Given the description of an element on the screen output the (x, y) to click on. 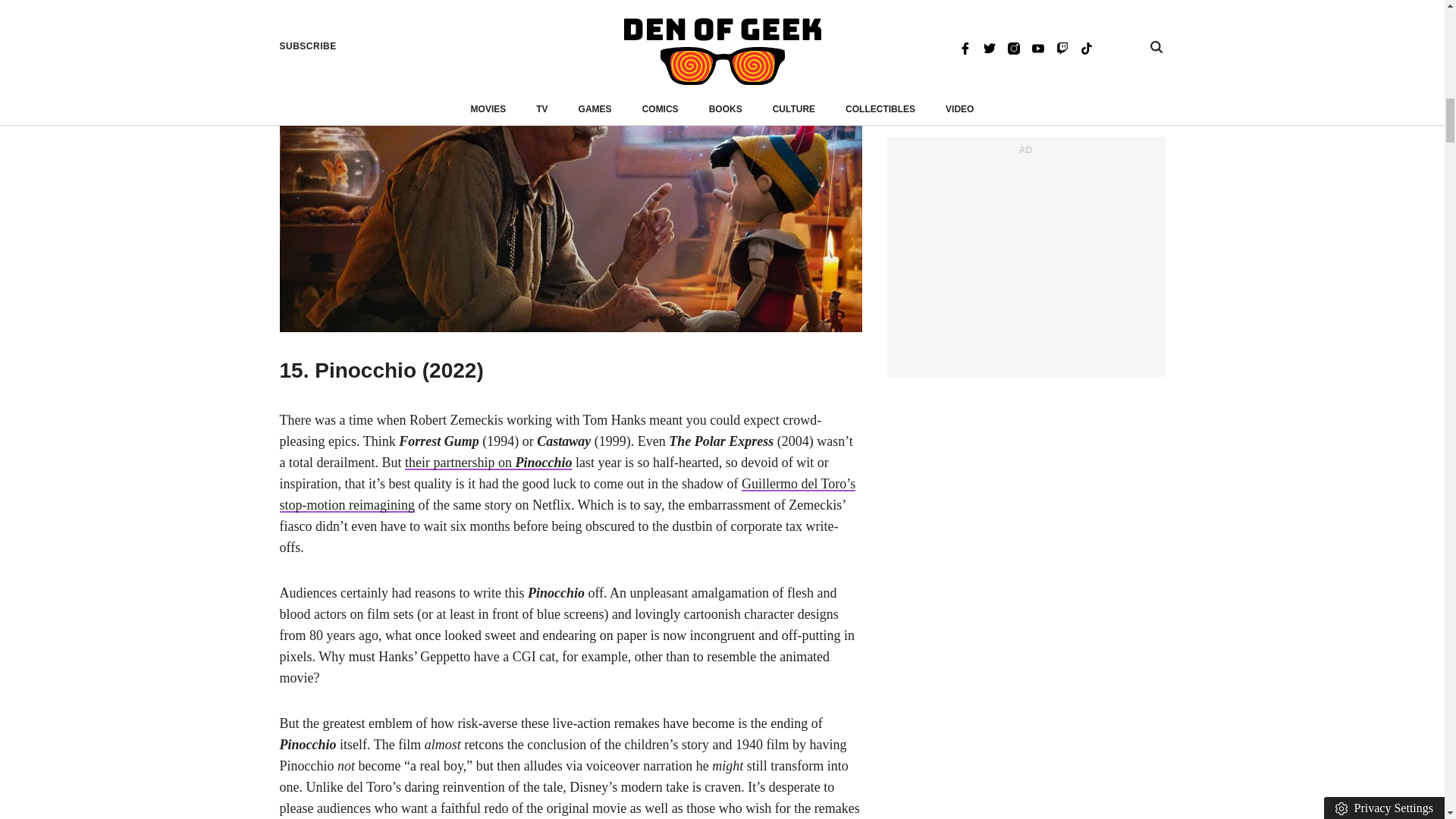
their partnership on Pinocchio (488, 462)
